Given the description of an element on the screen output the (x, y) to click on. 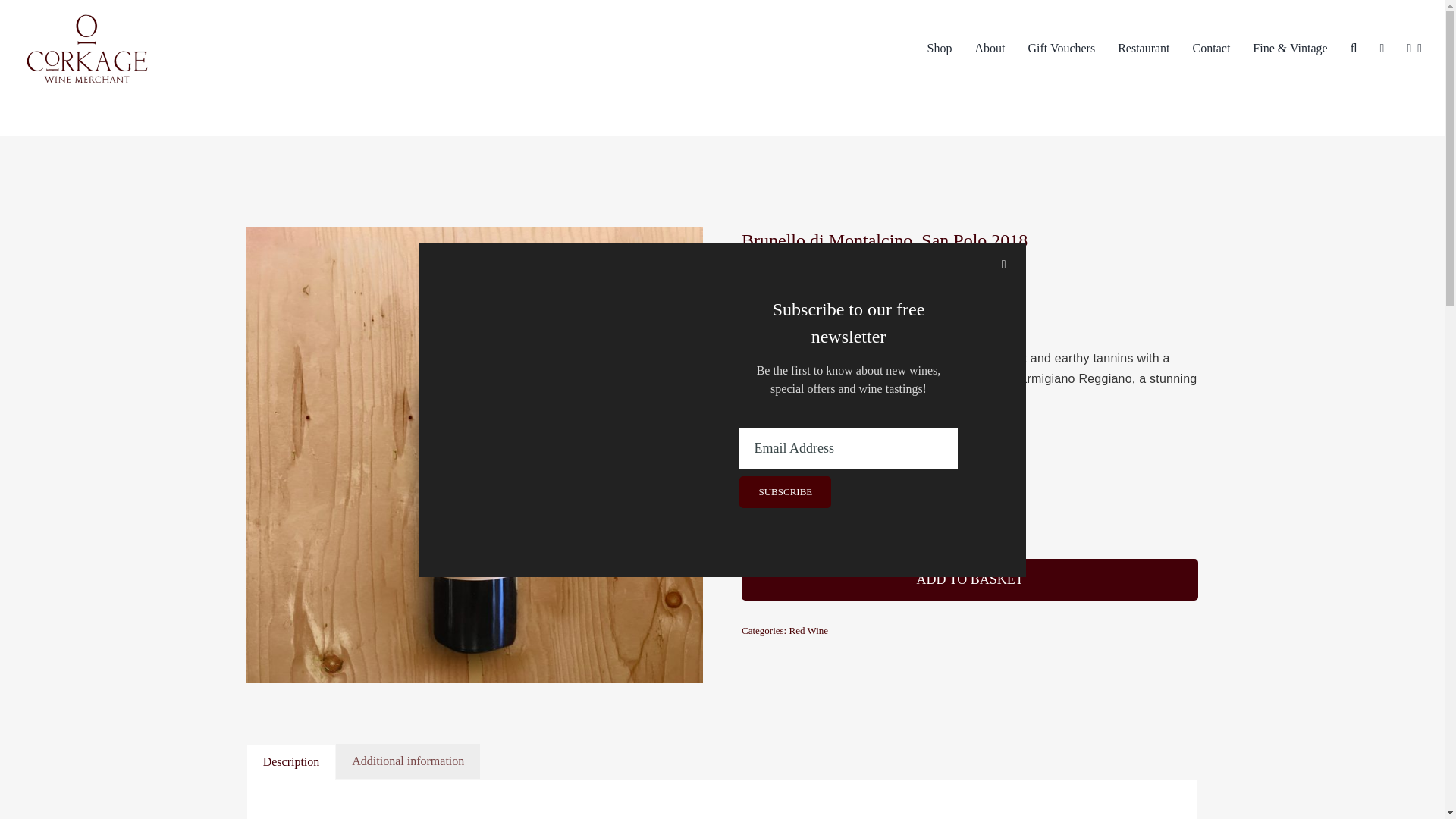
Shop (939, 48)
Contact (1211, 48)
Additional information (408, 760)
SUBSCRIBE (848, 478)
Red Wine (808, 630)
- (948, 516)
ADD TO BASKET (969, 579)
Gift Vouchers (1060, 48)
Description (291, 761)
About (989, 48)
Log In (1369, 176)
Restaurant (1143, 48)
